Given the description of an element on the screen output the (x, y) to click on. 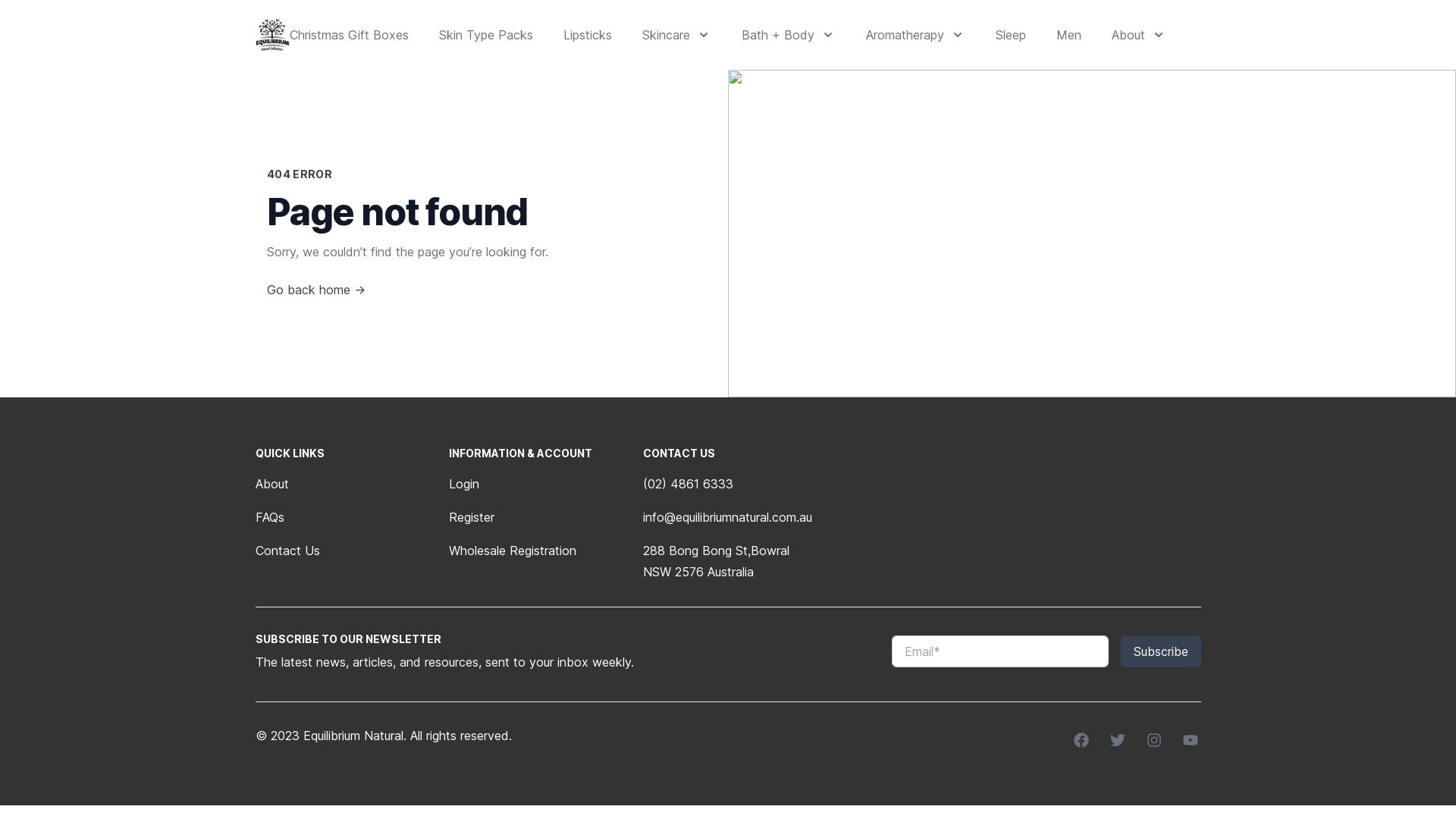
(02) 4861 6333 Element type: text (688, 483)
288 Bong Bong St,Bowral NSW 2576 Australia Element type: text (716, 560)
Login Element type: text (463, 483)
Twitter Element type: text (1119, 741)
Christmas Gift Boxes Element type: text (348, 34)
logo-black-web_256x256.png?v=1646658369 Element type: hover (271, 34)
Register Element type: text (471, 516)
info@equilibriumnatural.com.au Element type: text (727, 516)
Bath + Body Element type: text (788, 34)
Instagram Element type: text (1155, 741)
Aromatherapy Element type: text (915, 34)
Contact Us Element type: text (286, 550)
Sleep Element type: text (1010, 34)
About Element type: text (271, 483)
Facebook Element type: text (1082, 741)
Skin Type Packs Element type: text (486, 34)
FAQs Element type: text (268, 516)
Skincare Element type: text (676, 34)
Men Element type: text (1068, 34)
Subscribe Element type: text (1160, 651)
About Element type: text (1138, 34)
YouTube Element type: text (1192, 741)
Wholesale Registration Element type: text (512, 550)
Lipsticks Element type: text (587, 34)
